Given the description of an element on the screen output the (x, y) to click on. 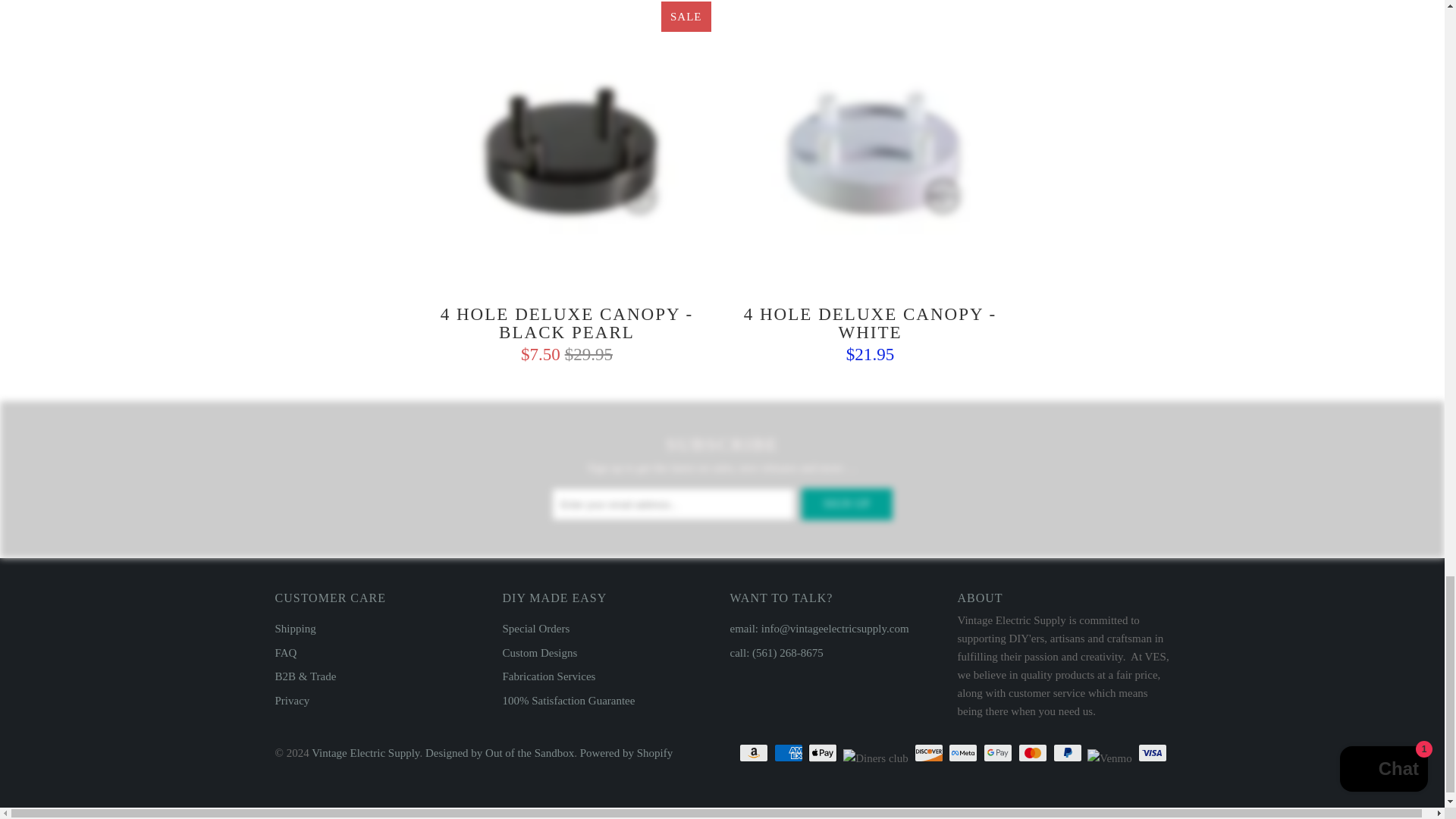
Sign Up (847, 504)
